Given the description of an element on the screen output the (x, y) to click on. 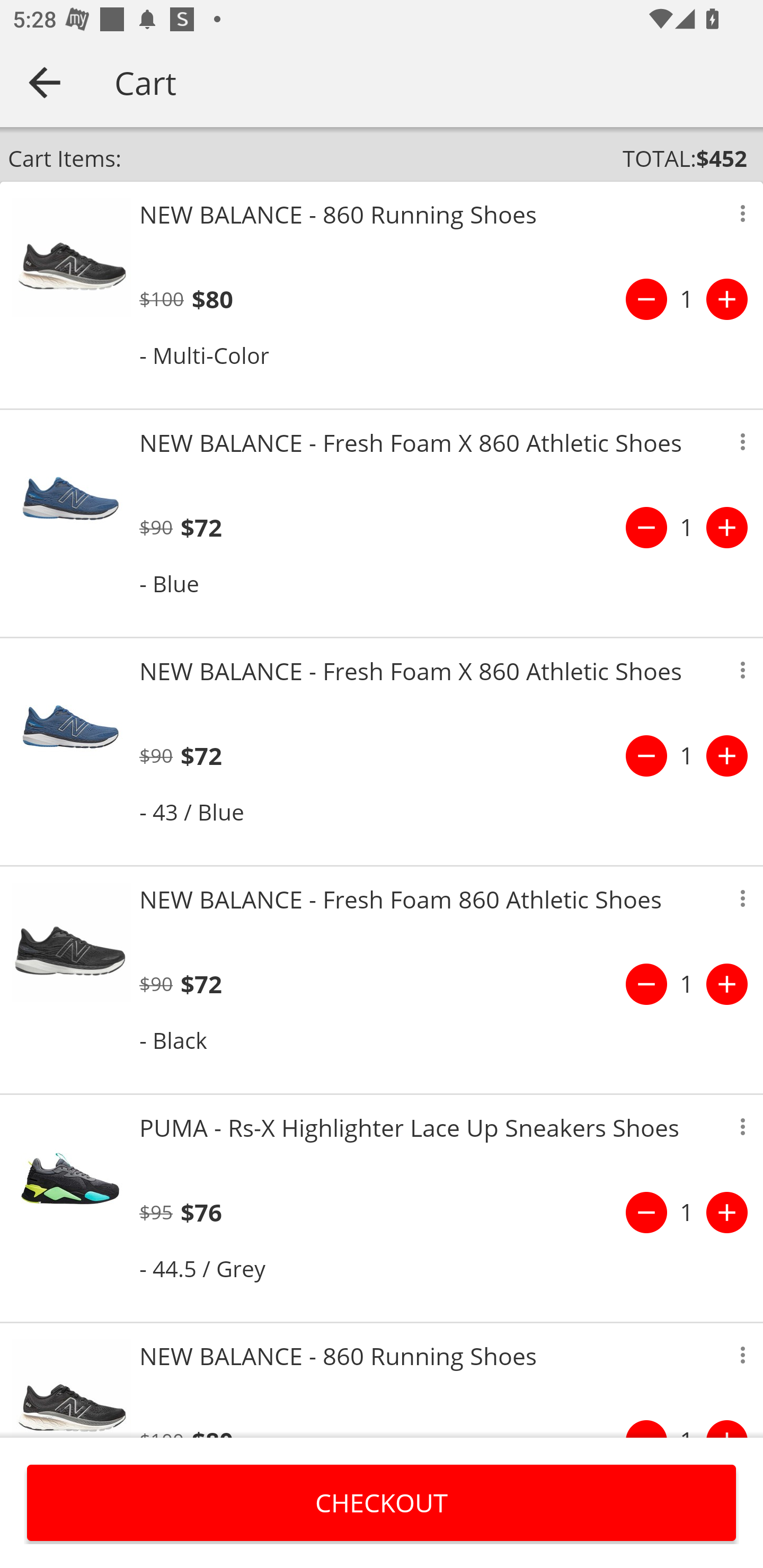
Navigate up (44, 82)
1 (686, 299)
1 (686, 527)
1 (686, 755)
1 (686, 984)
1 (686, 1211)
NEW BALANCE - 860 Running Shoes $100 $80 1 (381, 1380)
CHECKOUT (381, 1502)
